Given the description of an element on the screen output the (x, y) to click on. 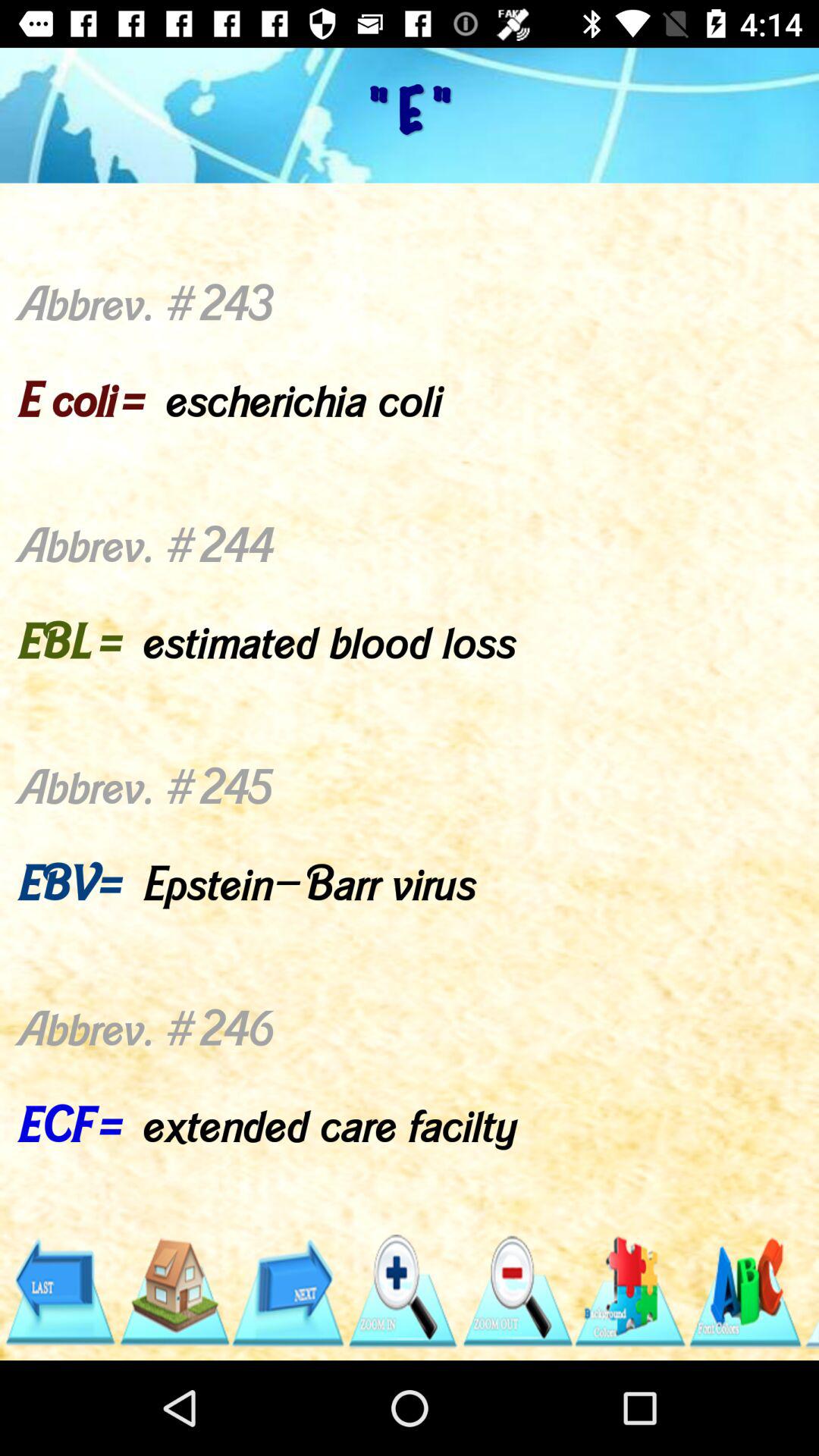
zooms in (402, 1291)
